Given the description of an element on the screen output the (x, y) to click on. 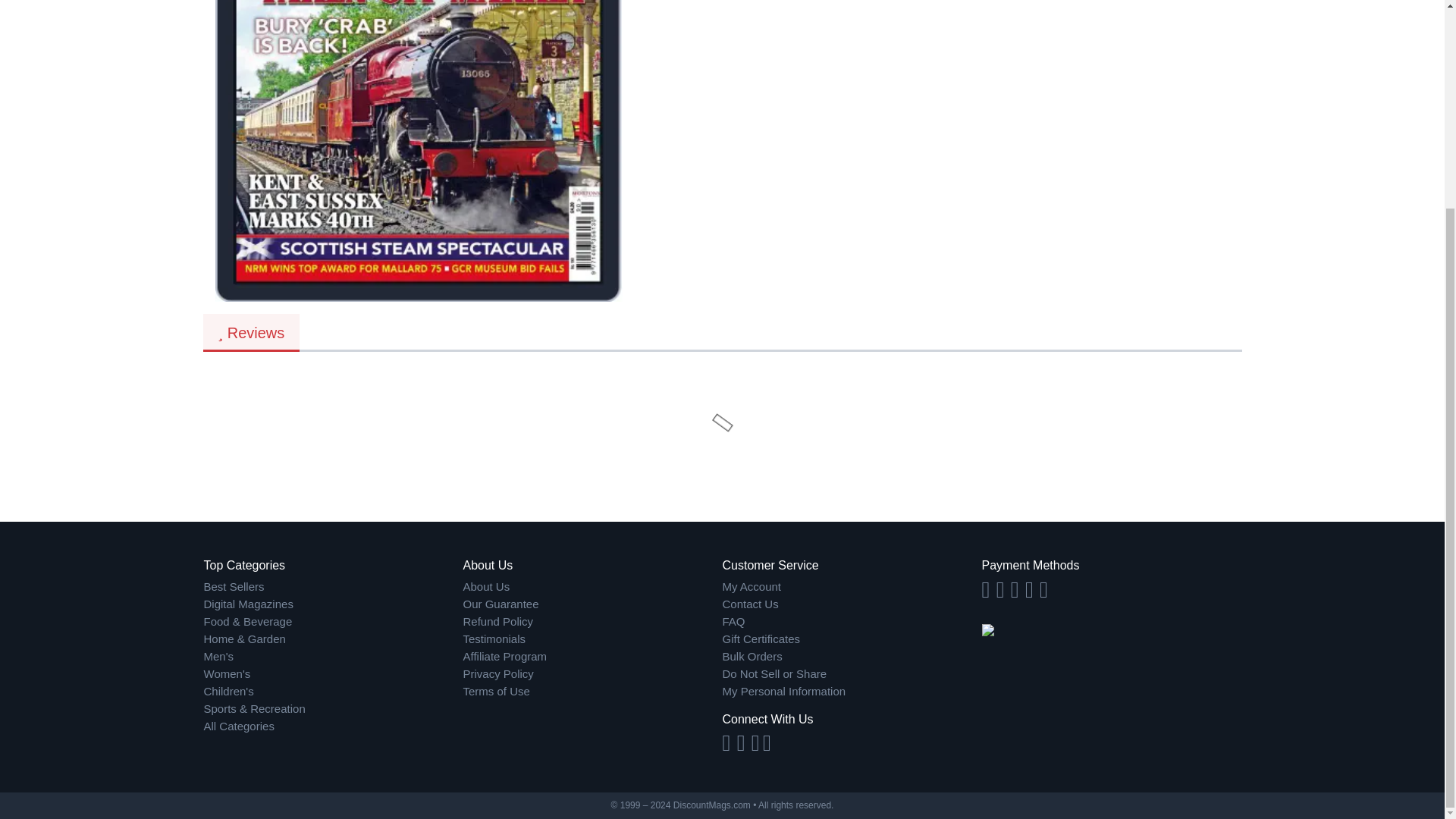
Reviews (251, 332)
FAQ (851, 621)
Bulk Orders (851, 656)
Our Guarantee (592, 604)
Men's (333, 656)
Digital Magazines (333, 604)
Privacy Policy (592, 674)
Children's (333, 692)
Contact Us (851, 604)
About Us (592, 587)
Terms of Use (592, 692)
Refund Policy (592, 621)
Best Sellers (333, 587)
Women's (333, 674)
Gift Certificates (851, 639)
